Given the description of an element on the screen output the (x, y) to click on. 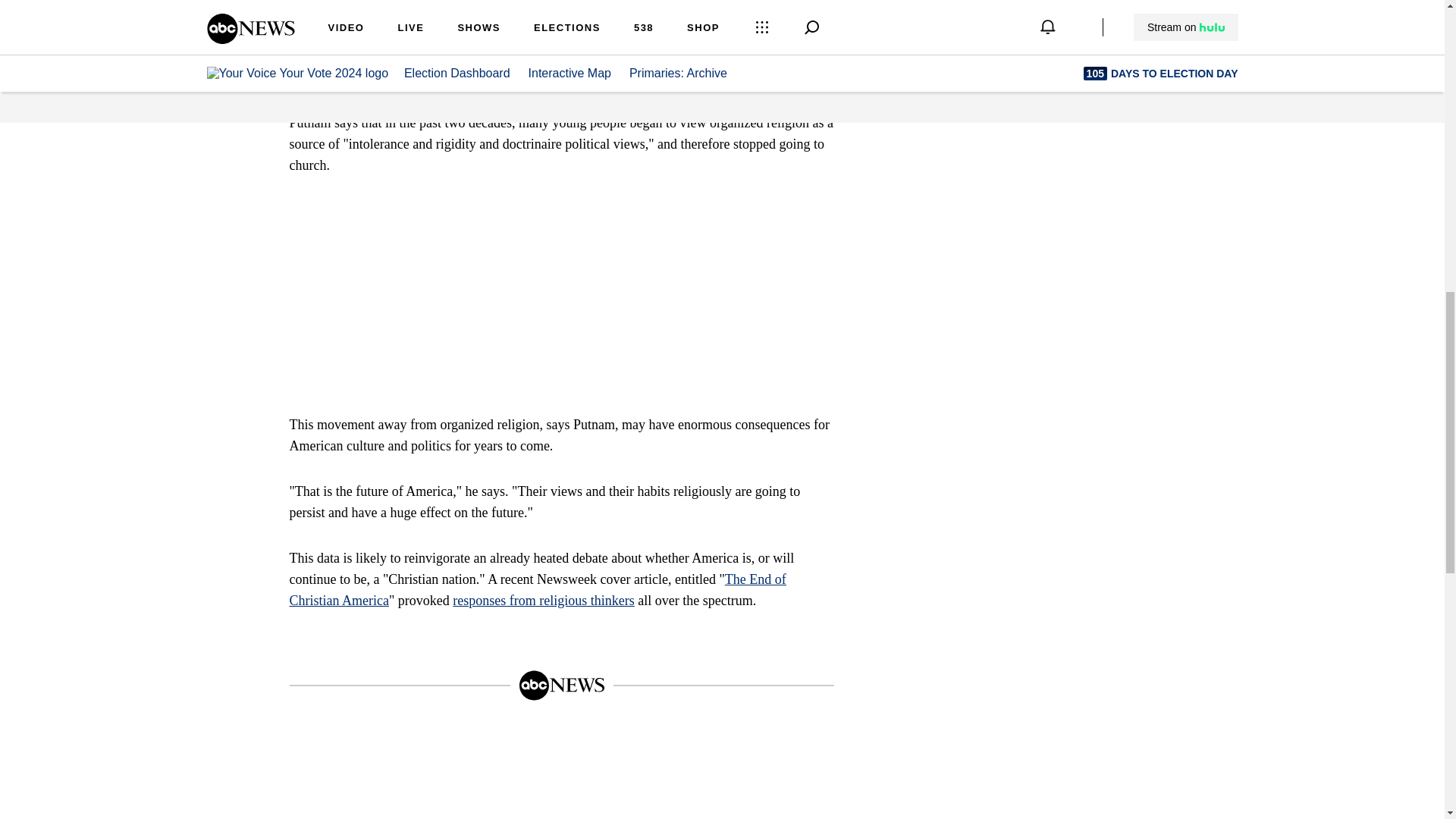
responses from religious thinkers (542, 600)
The End of Christian America (537, 589)
